Given the description of an element on the screen output the (x, y) to click on. 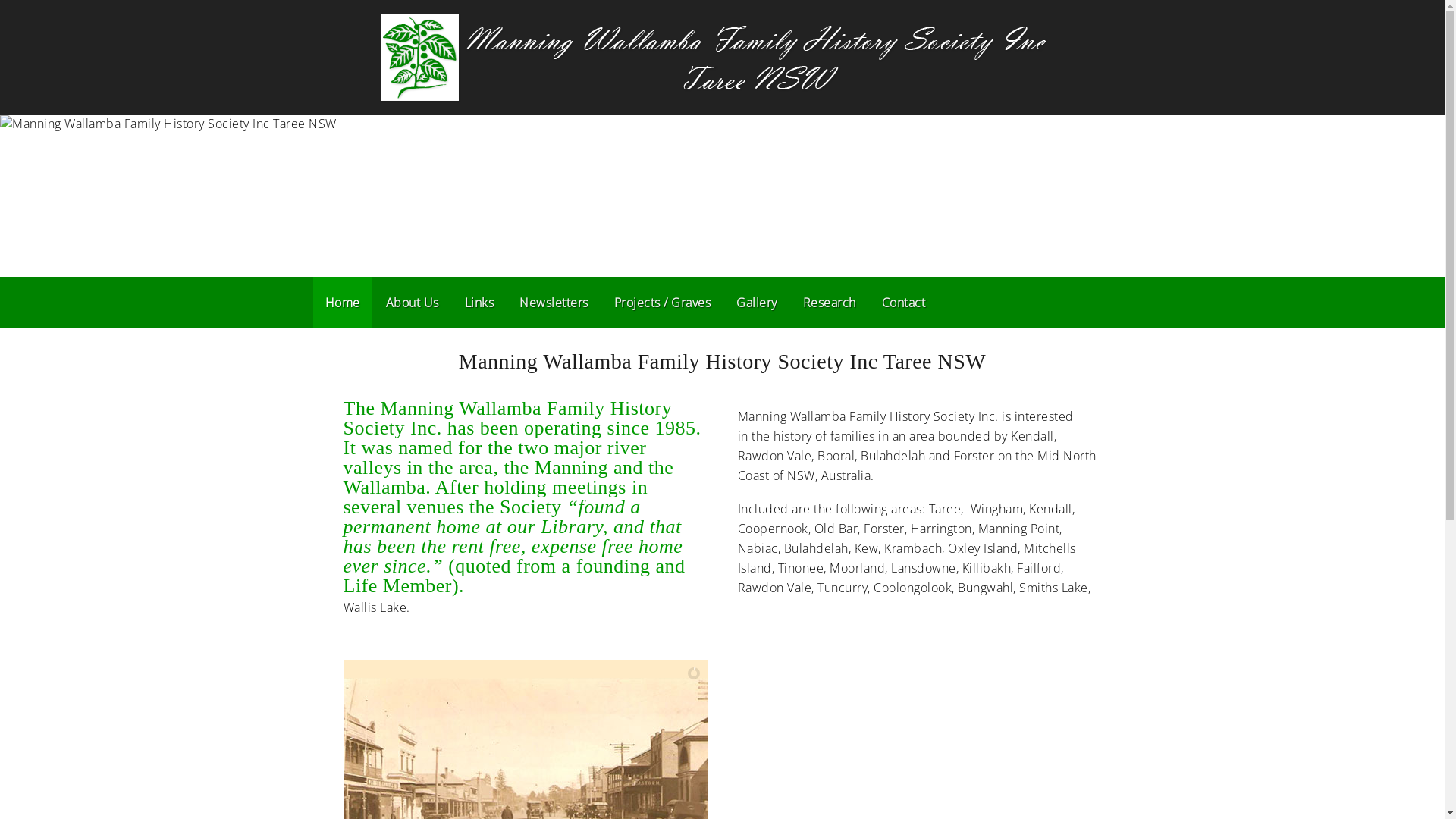
Gallery Element type: text (756, 302)
Research Element type: text (828, 302)
Newsletters Element type: text (553, 302)
Projects / Graves Element type: text (662, 302)
Home Element type: text (341, 302)
Contact Element type: text (903, 302)
Links Element type: text (478, 302)
About Us Element type: text (411, 302)
